Given the description of an element on the screen output the (x, y) to click on. 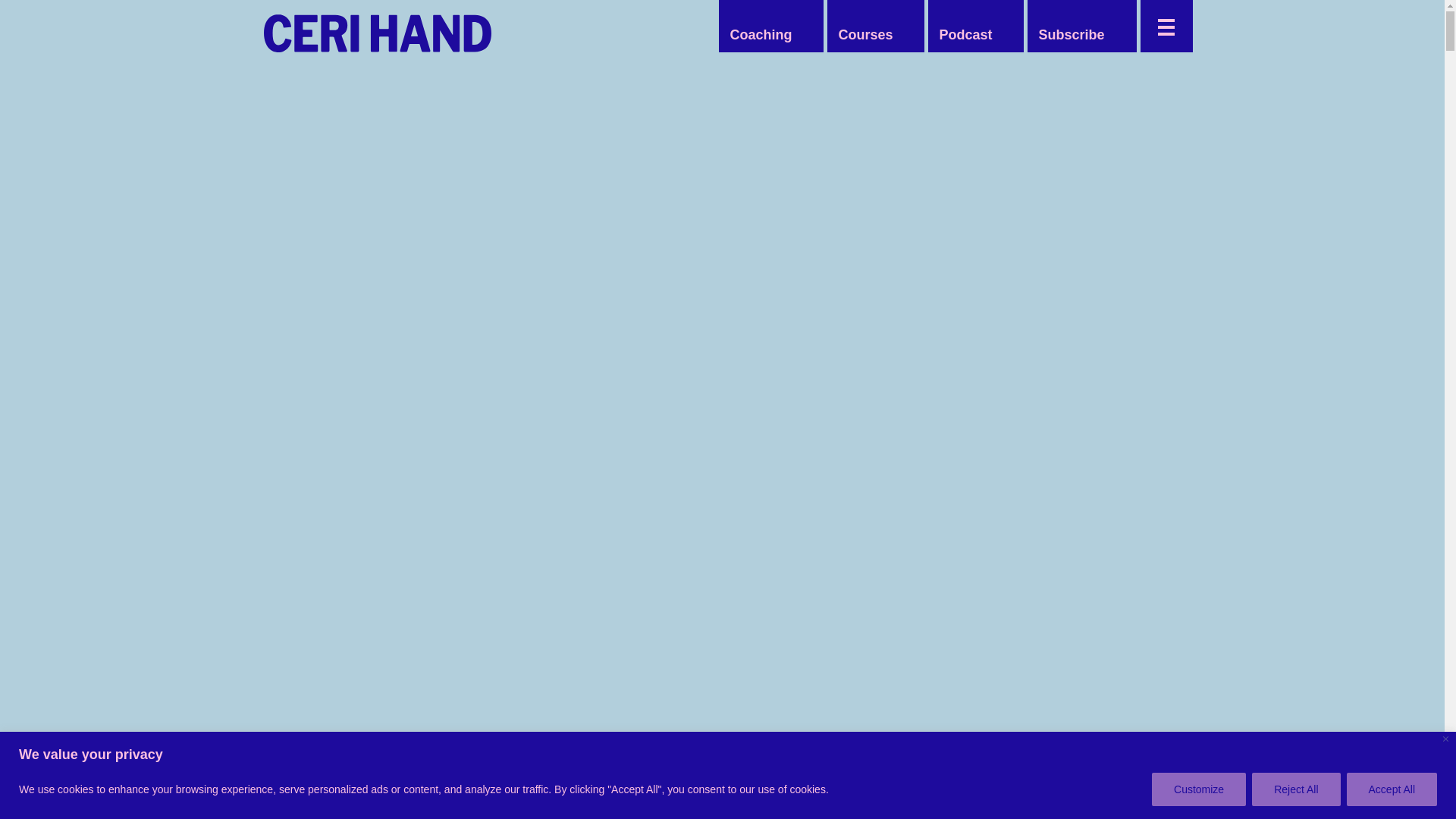
Coaching (760, 34)
Reject All (1295, 788)
Subscribe (1070, 34)
Podcast (964, 34)
Courses (864, 34)
Accept All (1391, 788)
Customize (1198, 788)
